Given the description of an element on the screen output the (x, y) to click on. 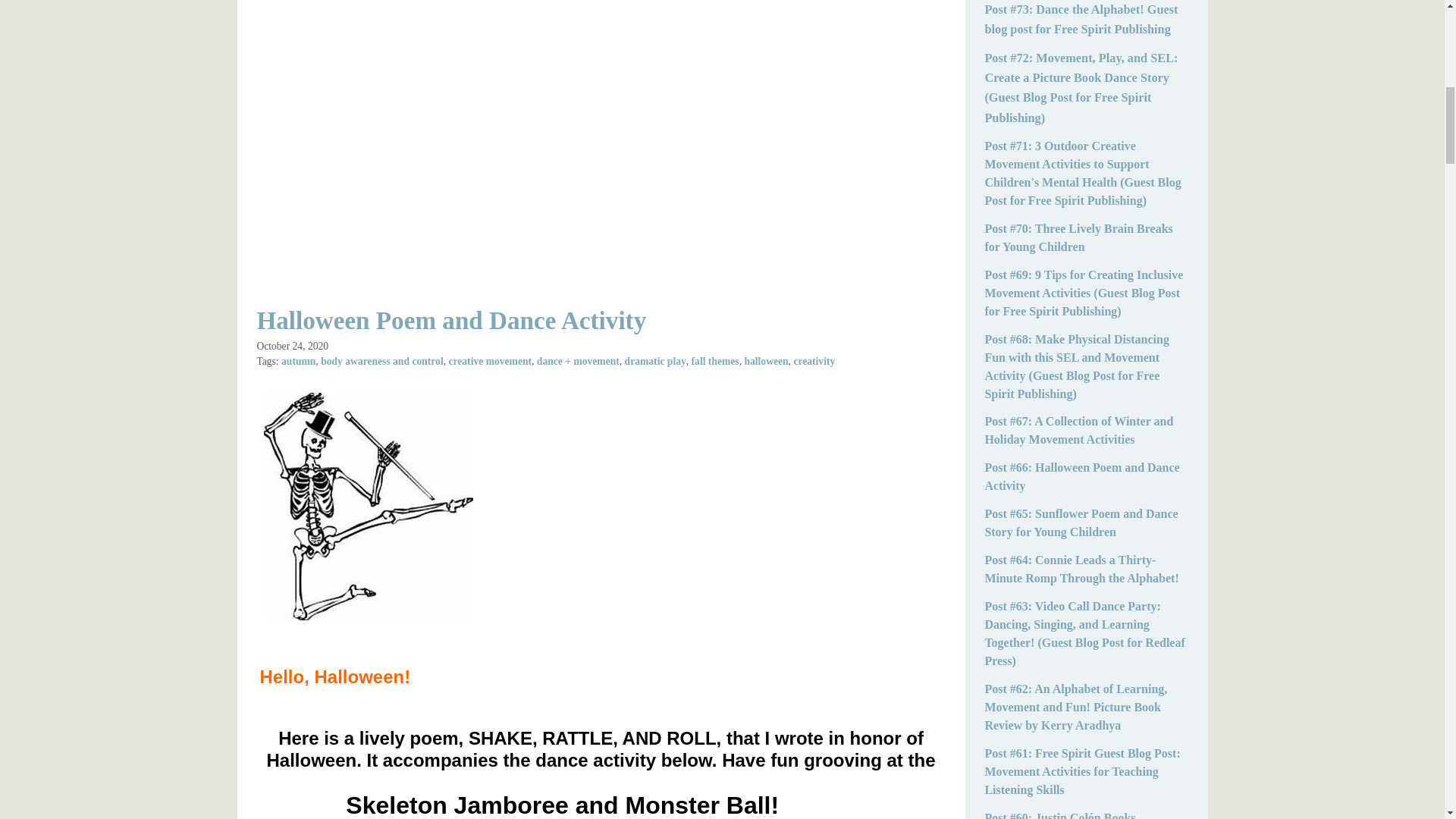
fall themes (715, 360)
Halloween Poem and Dance Activity (451, 320)
creative movement (489, 360)
dramatic play (654, 360)
halloween (765, 360)
body awareness and control (382, 360)
autumn (298, 360)
creativity (813, 360)
